Given the description of an element on the screen output the (x, y) to click on. 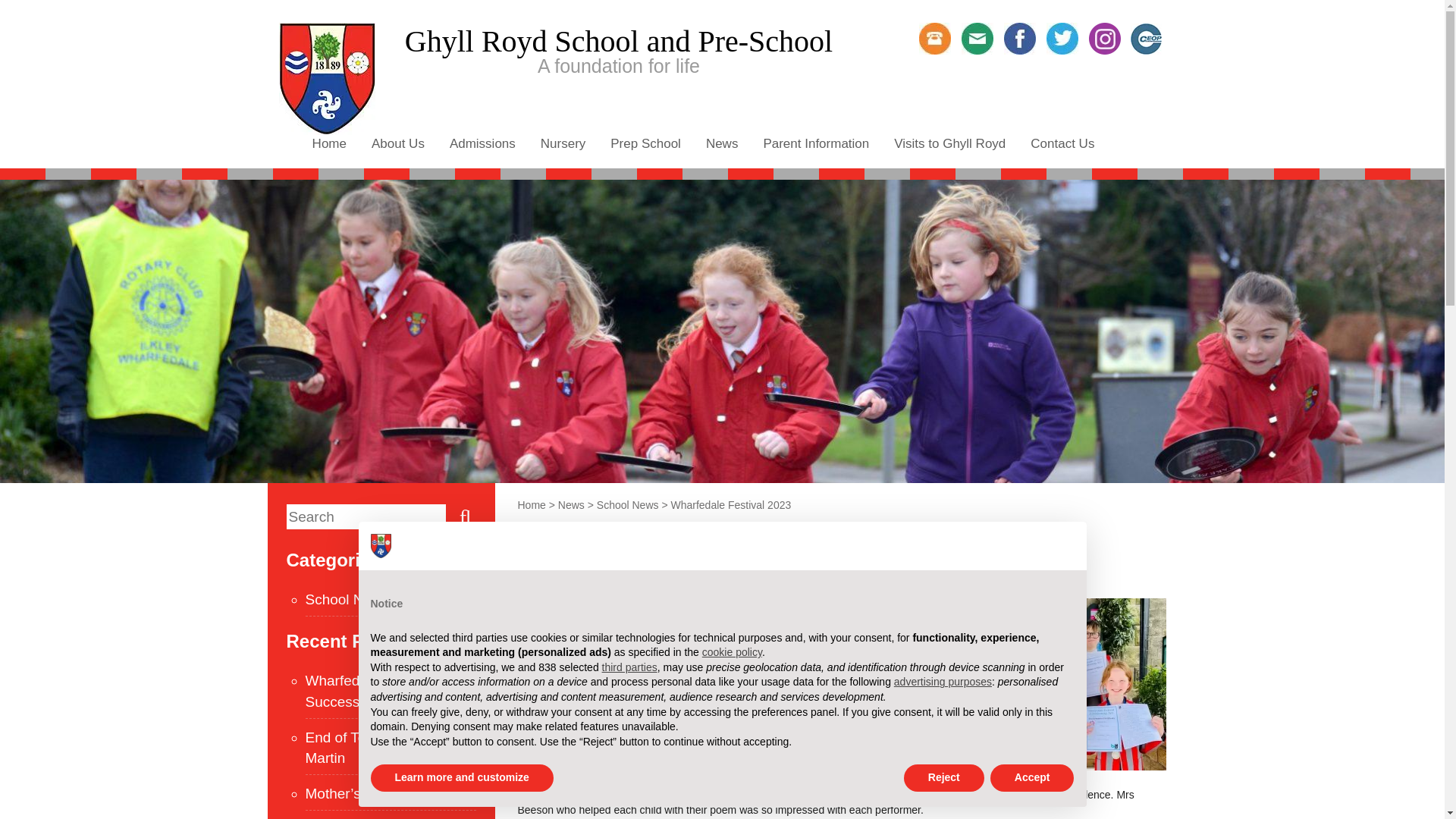
Nursery (563, 143)
Go to Ghyll Royd School and Pre-School. (530, 504)
Admissions (482, 143)
Home (329, 143)
Go to the School News category archives. (627, 504)
About Us (398, 143)
Go to News. (571, 504)
Prep School (645, 143)
Permalink to Wharfedale Festival 2023 (550, 579)
